Given the description of an element on the screen output the (x, y) to click on. 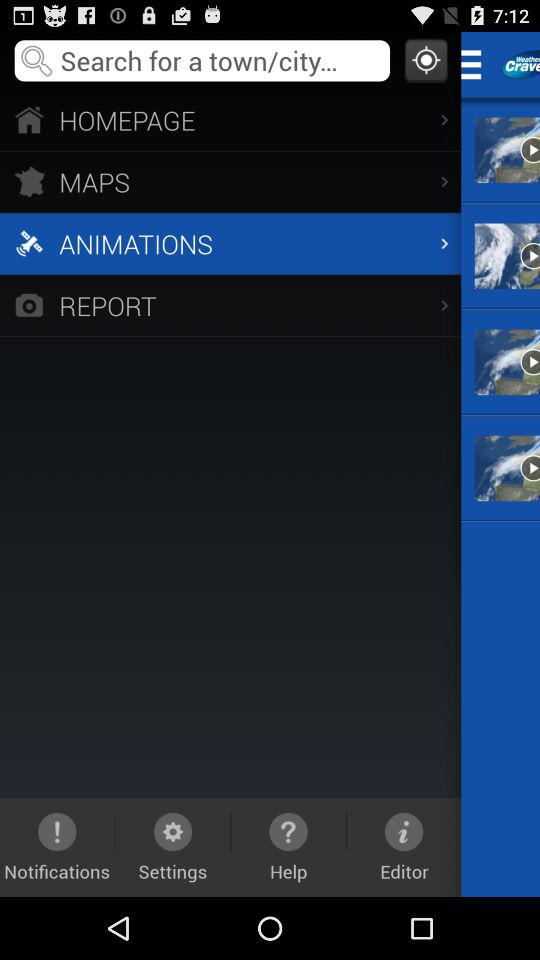
launch app below the homepage (230, 181)
